Given the description of an element on the screen output the (x, y) to click on. 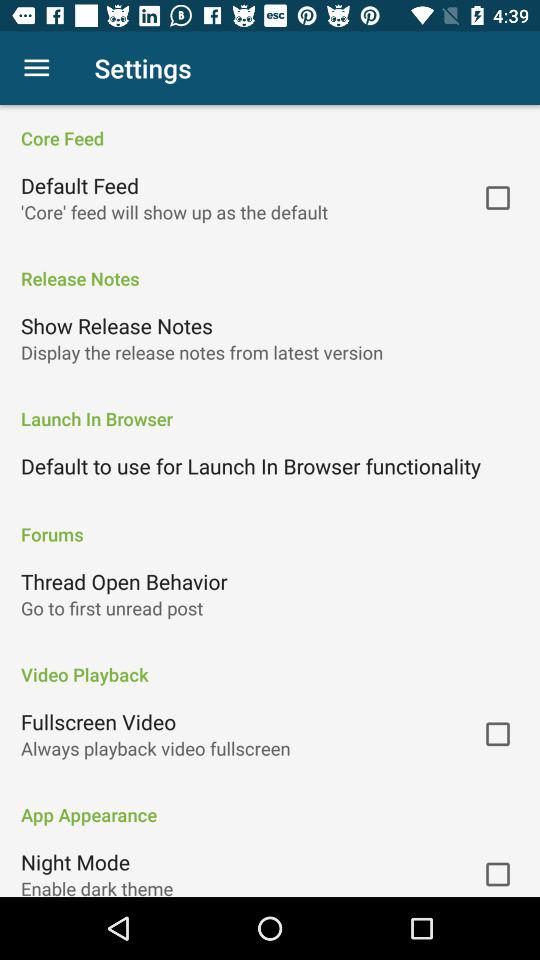
turn off night mode icon (75, 861)
